Given the description of an element on the screen output the (x, y) to click on. 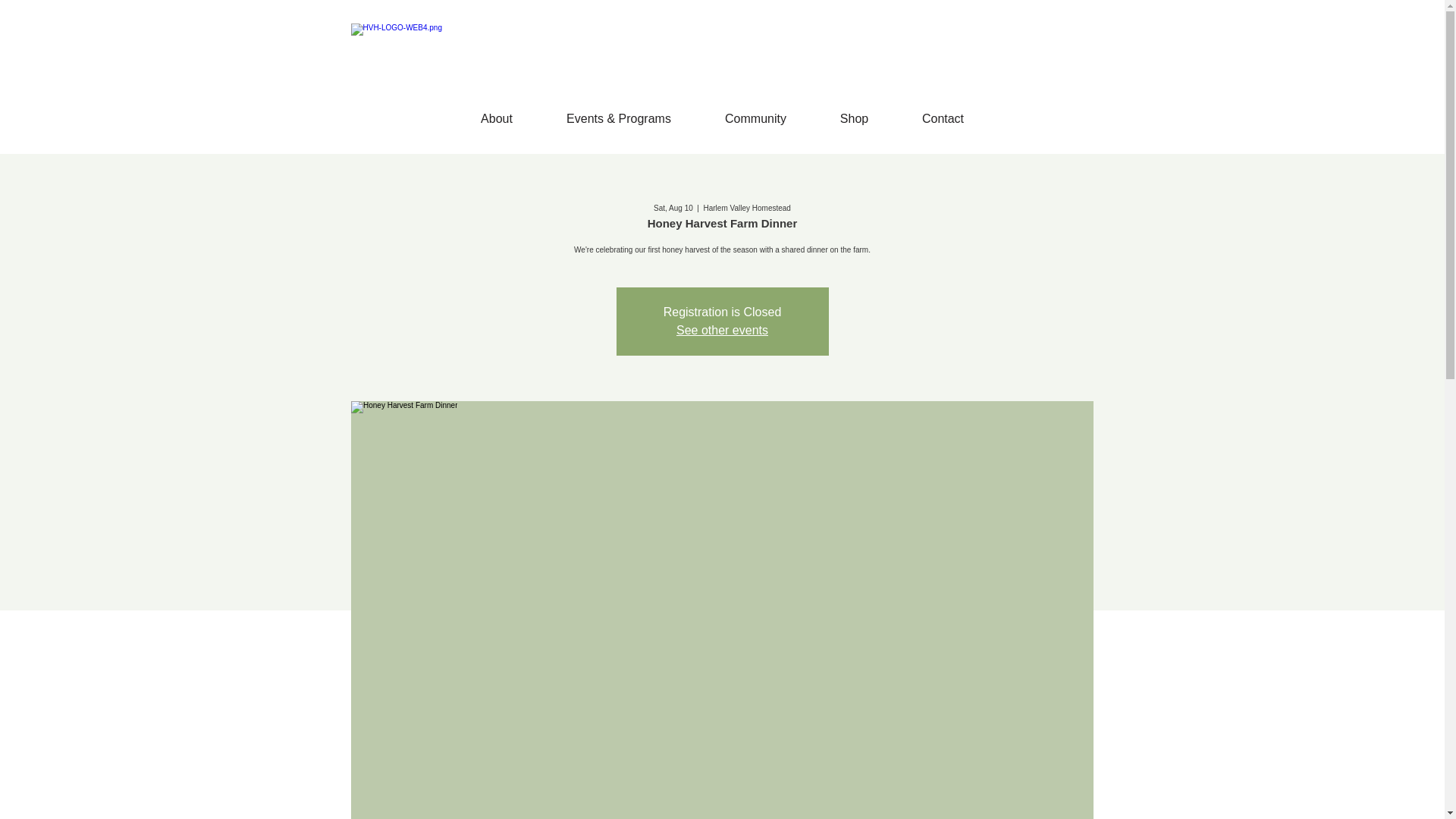
Community (754, 118)
Contact (942, 118)
See other events (722, 329)
